Given the description of an element on the screen output the (x, y) to click on. 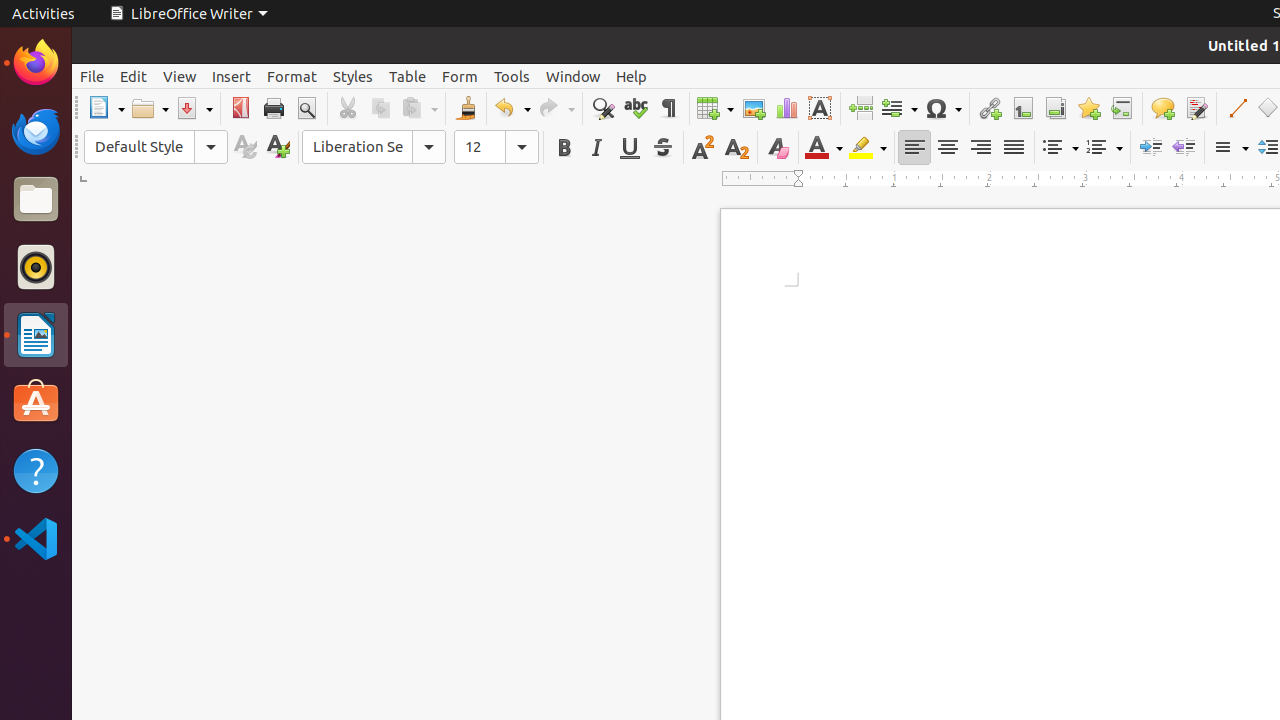
File Element type: menu (92, 76)
Open Element type: push-button (150, 108)
Endnote Element type: push-button (1055, 108)
Text Box Element type: push-button (819, 108)
Font Color Element type: push-button (824, 147)
